Given the description of an element on the screen output the (x, y) to click on. 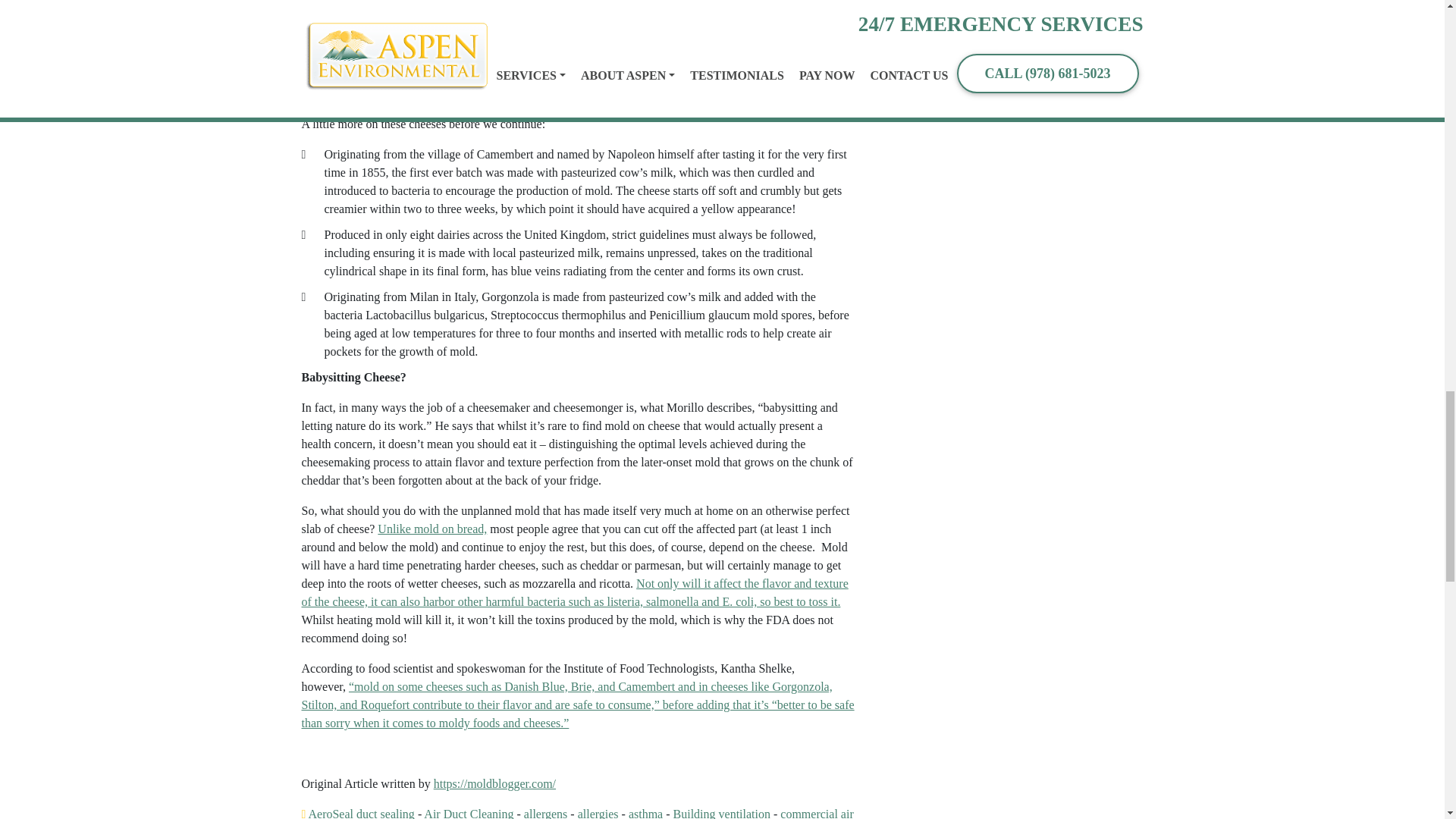
asthma (645, 813)
Air Duct Cleaning (468, 813)
commercial air duct cleaning (577, 813)
allergies (598, 813)
allergens (545, 813)
Unlike mold on bread, (431, 528)
Building ventilation (721, 813)
AeroSeal duct sealing (360, 813)
